Given the description of an element on the screen output the (x, y) to click on. 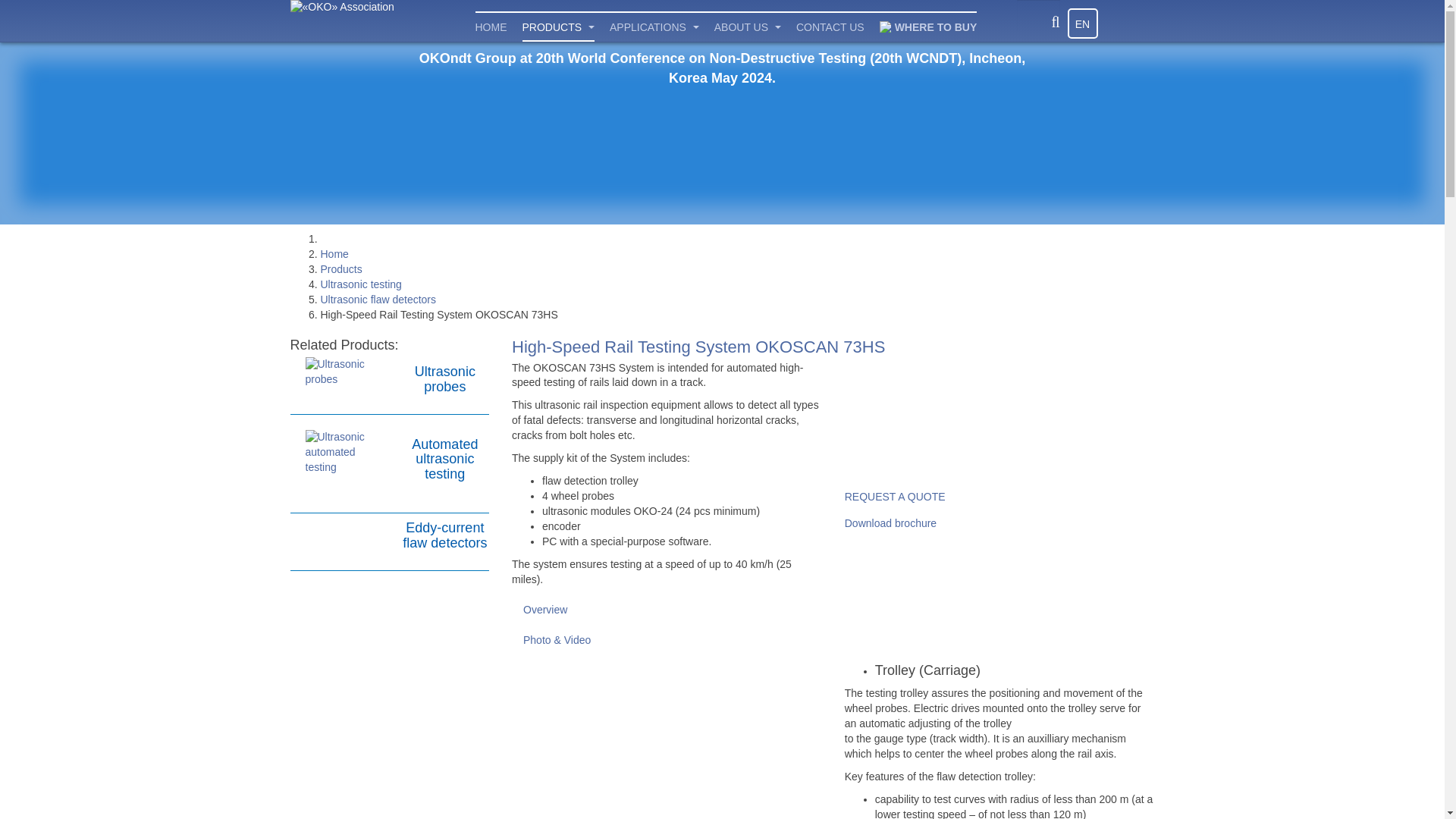
EN (1082, 23)
HOME (490, 27)
PRODUCTS (557, 27)
APPLICATIONS (654, 27)
